Given the description of an element on the screen output the (x, y) to click on. 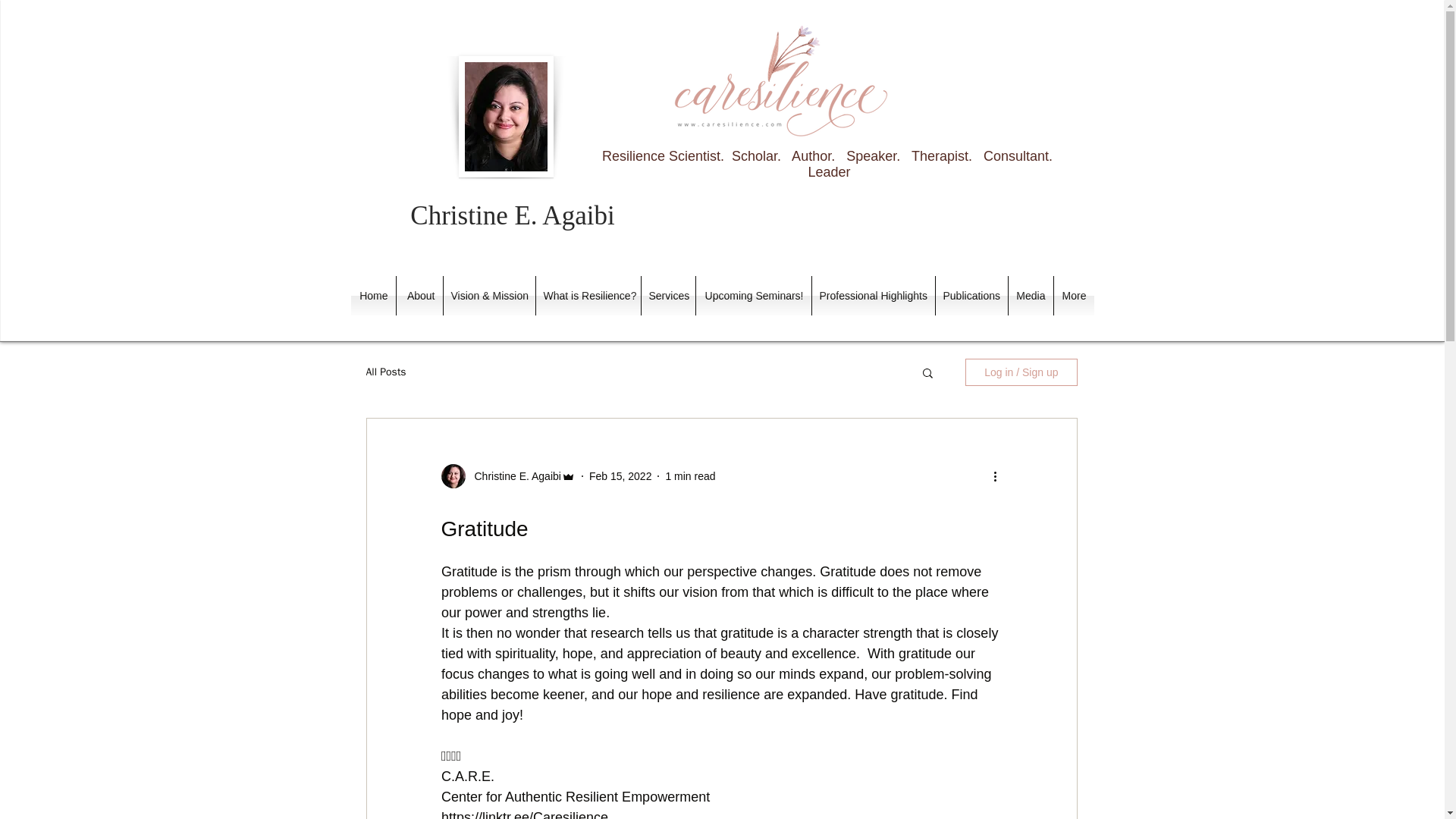
1 min read (689, 476)
Professional Highlights (872, 295)
Christine E. Agaibi (512, 476)
Upcoming Seminars! (752, 295)
About (419, 295)
Home (372, 295)
All Posts (385, 372)
Feb 15, 2022 (620, 476)
Services (668, 295)
What is Resilience? (587, 295)
Publications (971, 295)
Media (1030, 295)
